Given the description of an element on the screen output the (x, y) to click on. 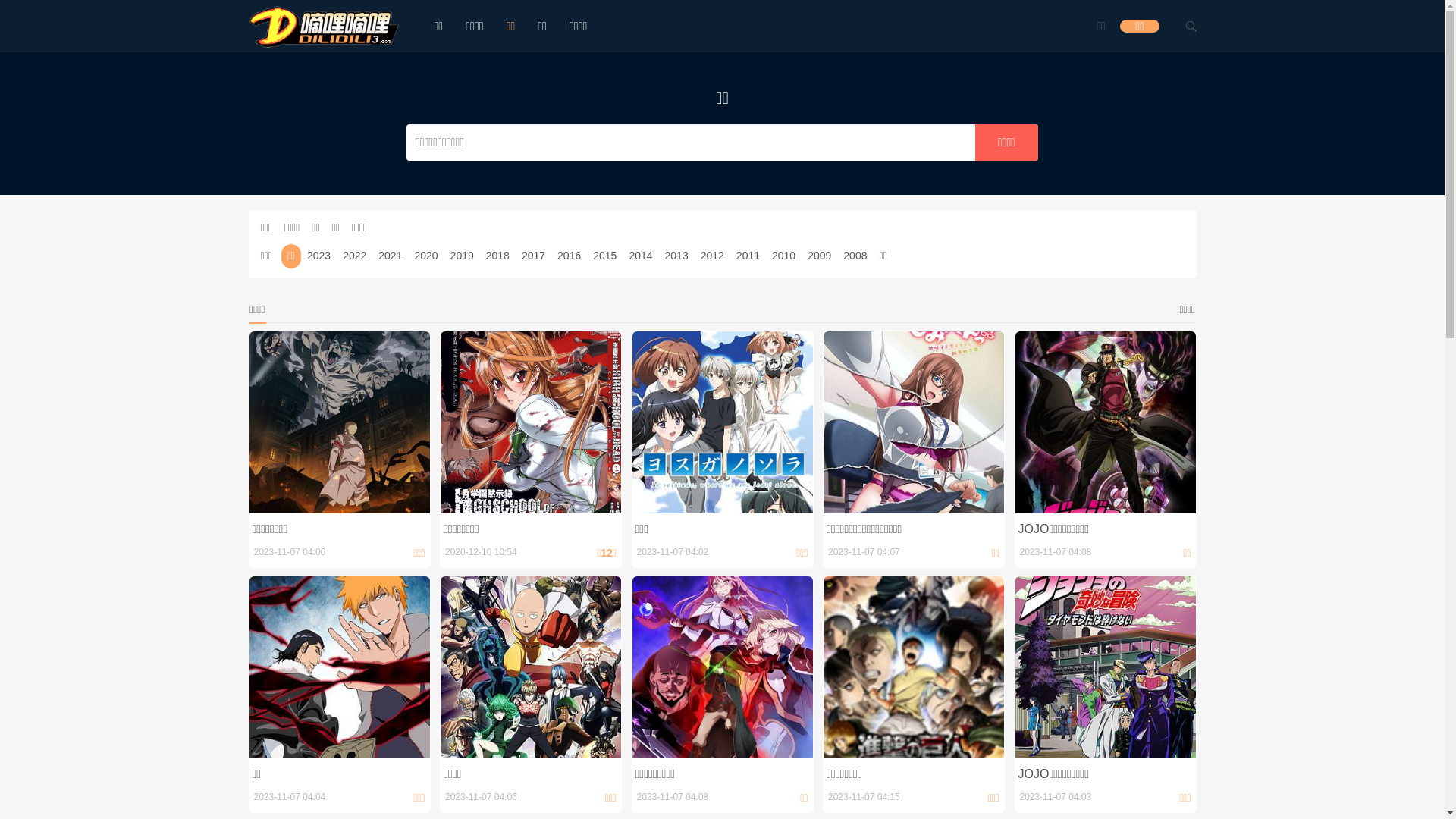
2017 Element type: text (533, 255)
2009 Element type: text (819, 255)
2020 Element type: text (425, 255)
2013 Element type: text (676, 255)
2019 Element type: text (461, 255)
2008 Element type: text (854, 255)
2022 Element type: text (354, 255)
2014 Element type: text (640, 255)
2015 Element type: text (604, 255)
2011 Element type: text (747, 255)
2012 Element type: text (712, 255)
2021 Element type: text (389, 255)
2018 Element type: text (497, 255)
2016 Element type: text (568, 255)
2010 Element type: text (783, 255)
2023 Element type: text (318, 255)
